Given the description of an element on the screen output the (x, y) to click on. 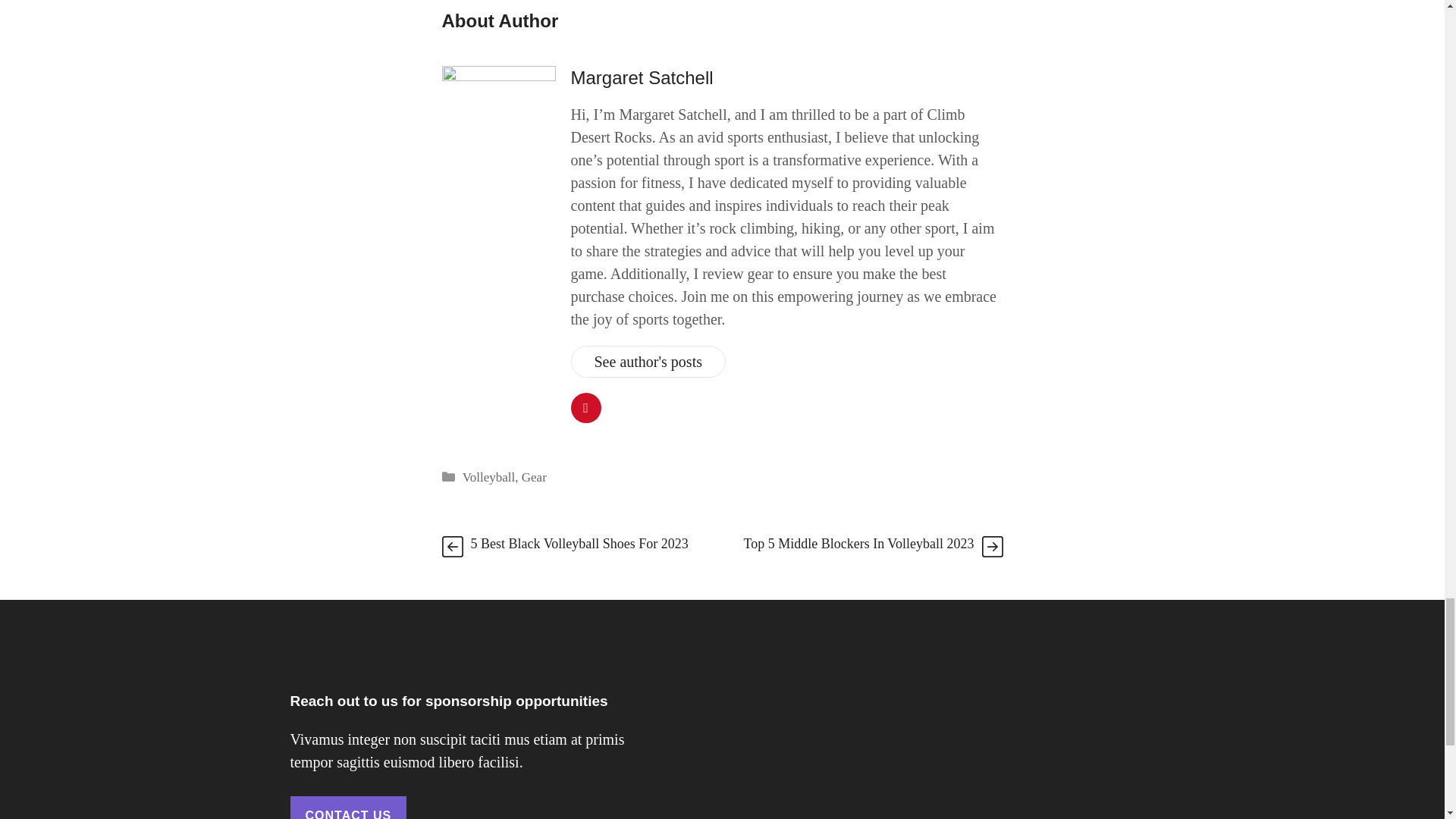
See author's posts (647, 361)
Margaret Satchell (641, 77)
Volleyball (489, 477)
5 Best Black Volleyball Shoes For 2023 (578, 543)
Gear (534, 477)
